Given the description of an element on the screen output the (x, y) to click on. 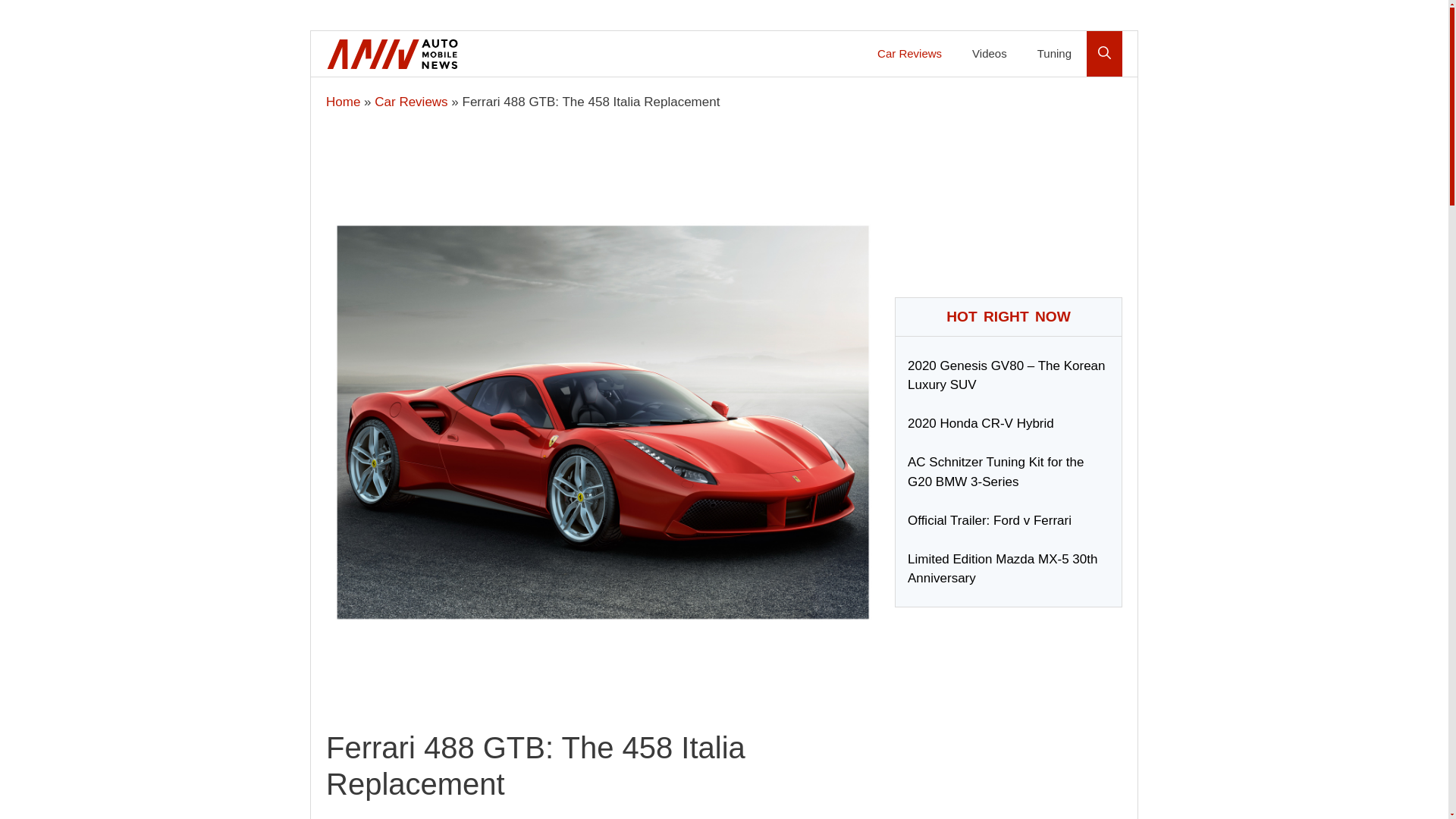
Official Trailer: Ford v Ferrari (989, 529)
Limited Edition Mazda MX-5 30th Anniversary (1002, 578)
Videos (989, 53)
Automobile News (393, 53)
Car Reviews (410, 101)
Home (342, 101)
Advertisement (602, 680)
Advertisement (602, 165)
2020 Honda CR-V Hybrid (980, 433)
Tuning (1054, 53)
AC Schnitzer Tuning Kit for the G20 BMW 3-Series (995, 481)
Car Reviews (908, 53)
Advertisement (1008, 716)
Advertisement (1008, 186)
